Given the description of an element on the screen output the (x, y) to click on. 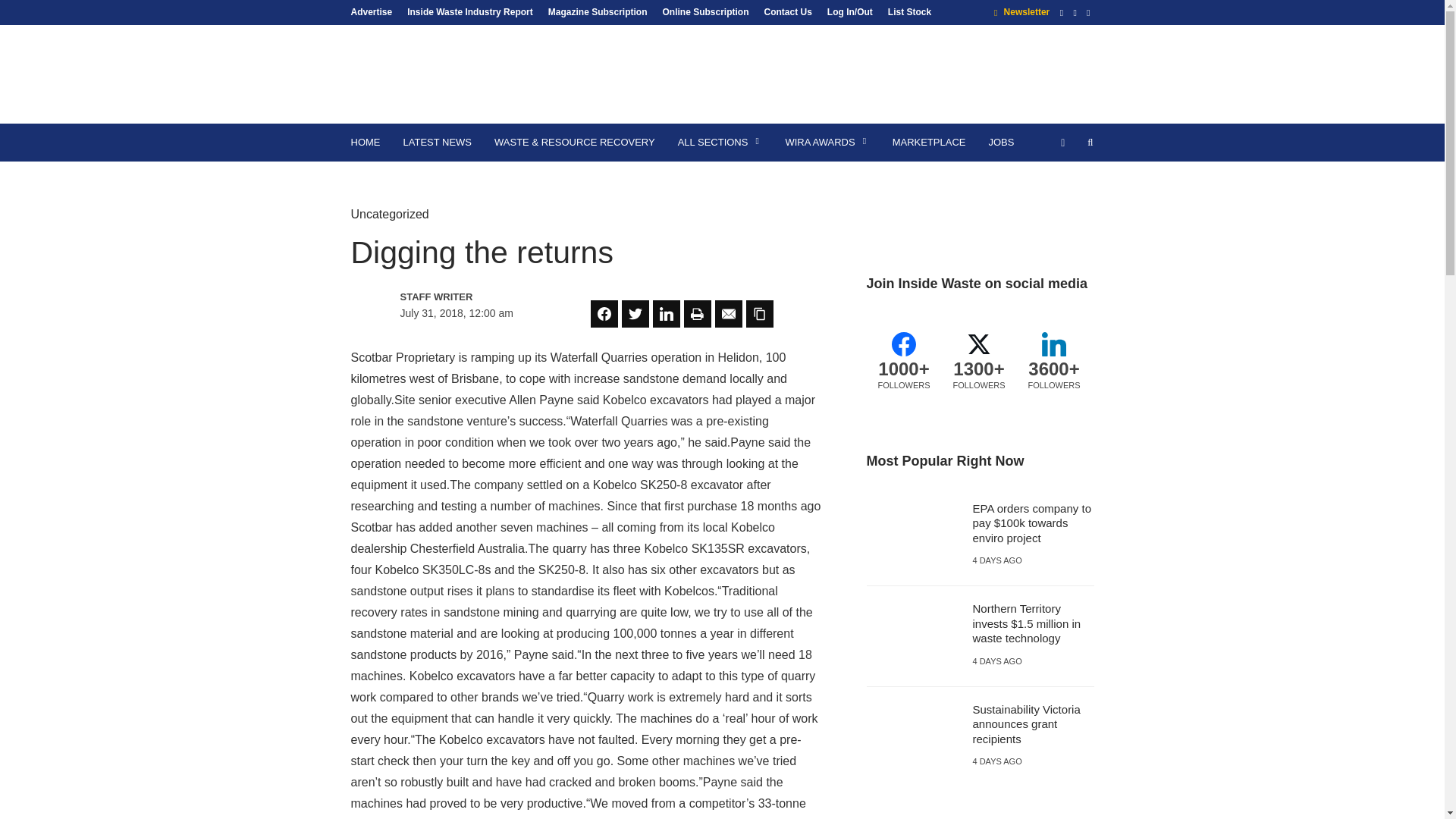
ALL SECTIONS (720, 142)
Newsletter (1021, 11)
Share on Email (728, 313)
Share on LinkedIn (665, 313)
Online Subscription (704, 11)
View all posts by Staff Writer (465, 296)
LATEST NEWS (437, 142)
Share on Facebook (604, 313)
Advertise (374, 11)
HOME (365, 142)
List Stock (905, 11)
Inside Waste Industry Report (469, 11)
Share on Copy Link (759, 313)
View your shopping cart (1062, 142)
Contact Us (788, 11)
